Given the description of an element on the screen output the (x, y) to click on. 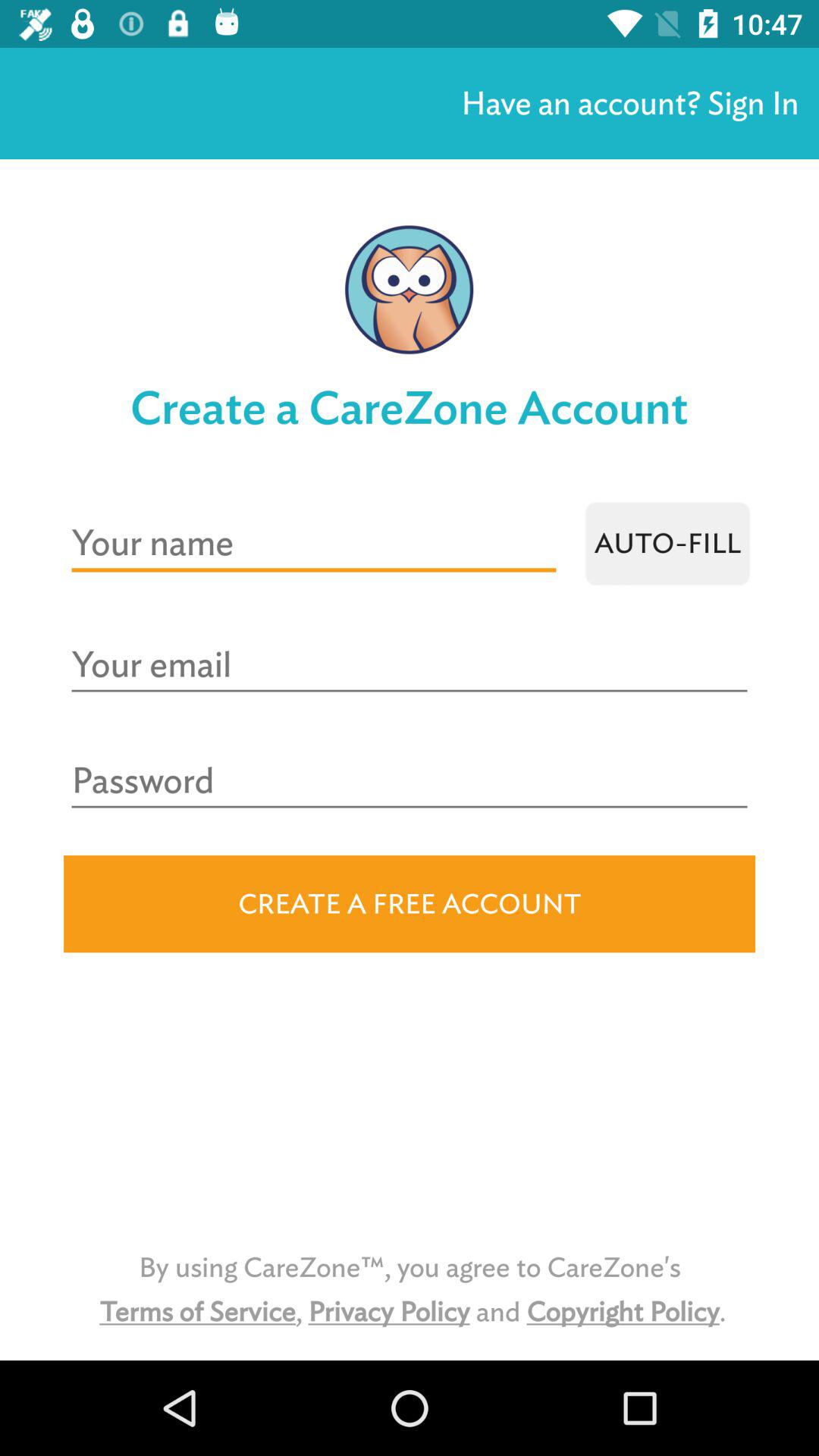
turn on item below the create a carezone icon (667, 543)
